Given the description of an element on the screen output the (x, y) to click on. 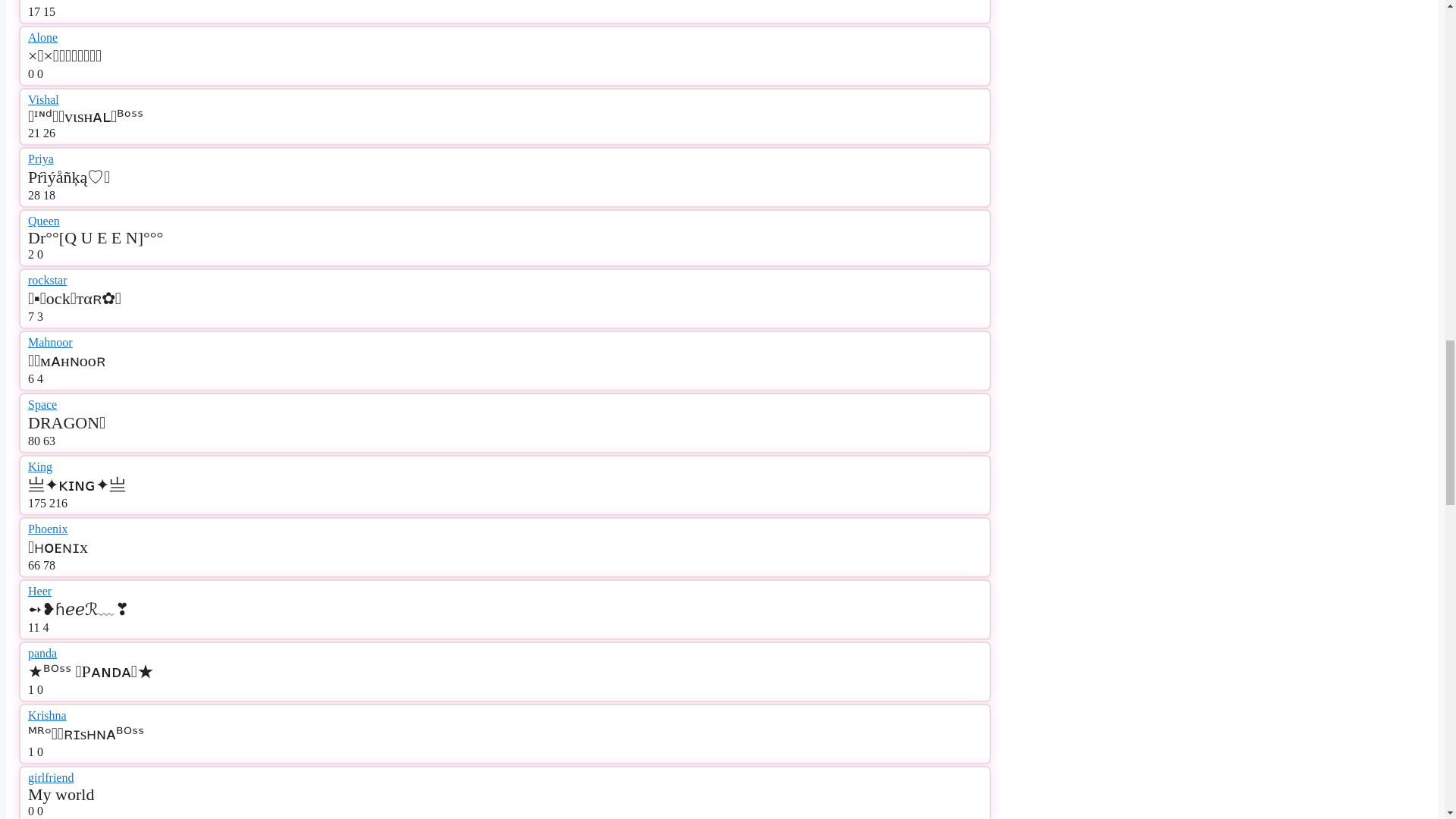
rockstar (46, 279)
King (39, 466)
Heer (38, 590)
Space (41, 404)
Vishal (43, 99)
Alone (42, 37)
Priya (40, 158)
Queen (43, 220)
Phoenix (46, 528)
Votes up (33, 11)
Mahnoor (49, 341)
Votes down (49, 11)
